Given the description of an element on the screen output the (x, y) to click on. 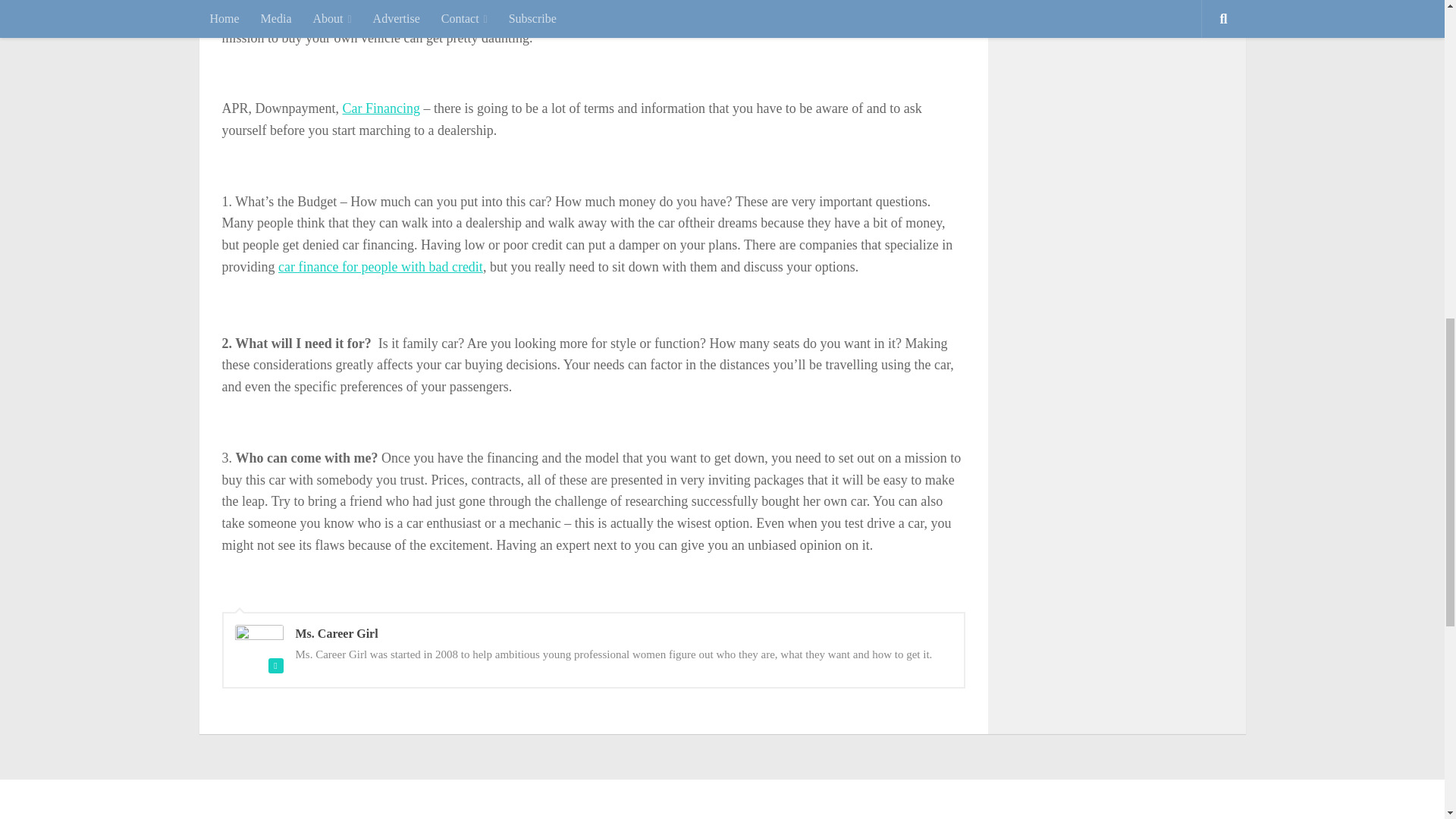
Advertisement (1123, 51)
